Given the description of an element on the screen output the (x, y) to click on. 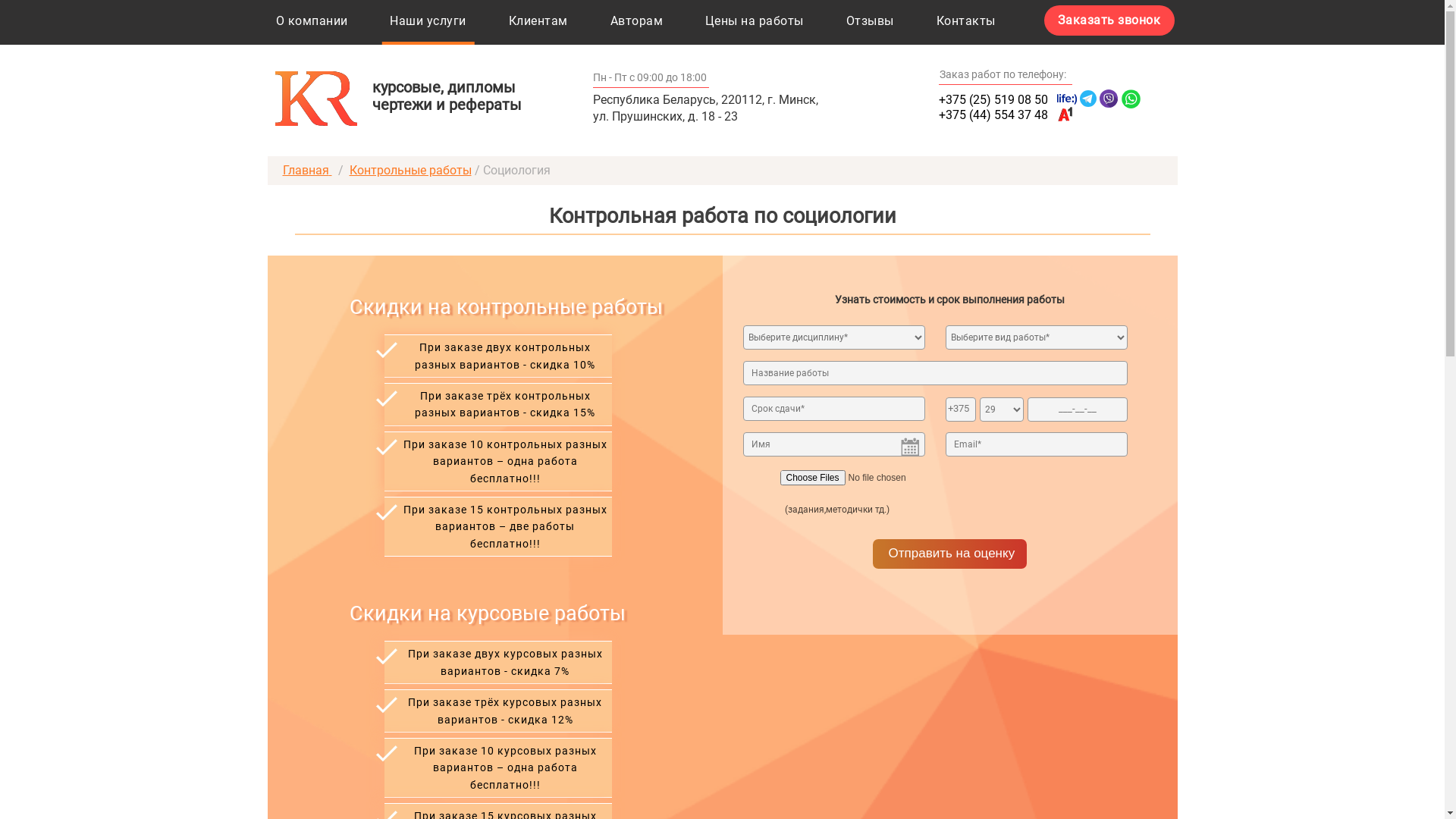
+375 (44) 554 37 48 Element type: text (1006, 114)
+375 (25) 519 08 50 Element type: text (1006, 99)
